Given the description of an element on the screen output the (x, y) to click on. 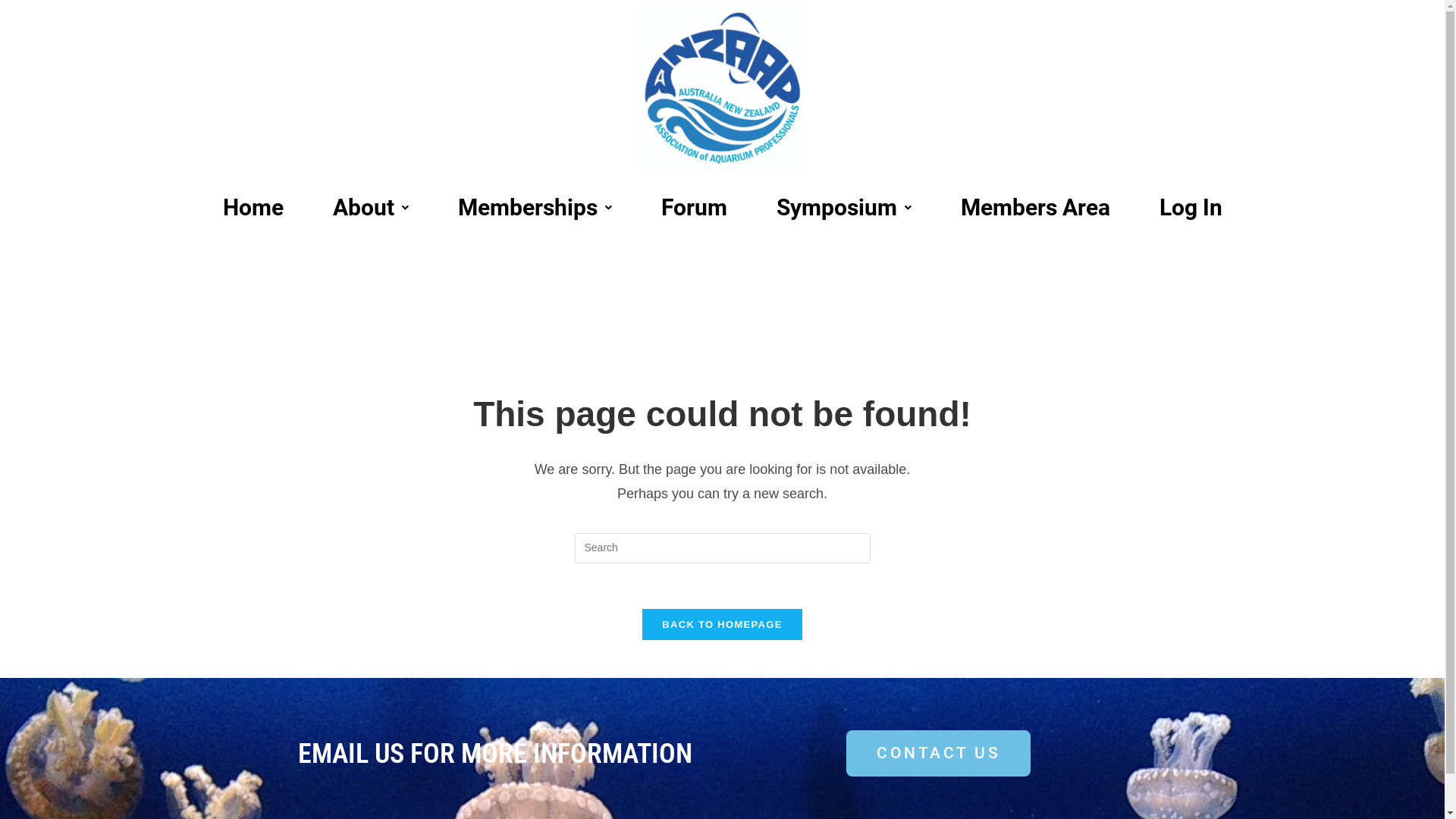
Symposium Element type: text (843, 207)
Members Area Element type: text (1035, 207)
Memberships Element type: text (533, 207)
Log In Element type: text (1190, 207)
CONTACT US Element type: text (938, 753)
Home Element type: text (252, 207)
About Element type: text (370, 207)
BACK TO HOMEPAGE Element type: text (721, 624)
Forum Element type: text (693, 207)
